Given the description of an element on the screen output the (x, y) to click on. 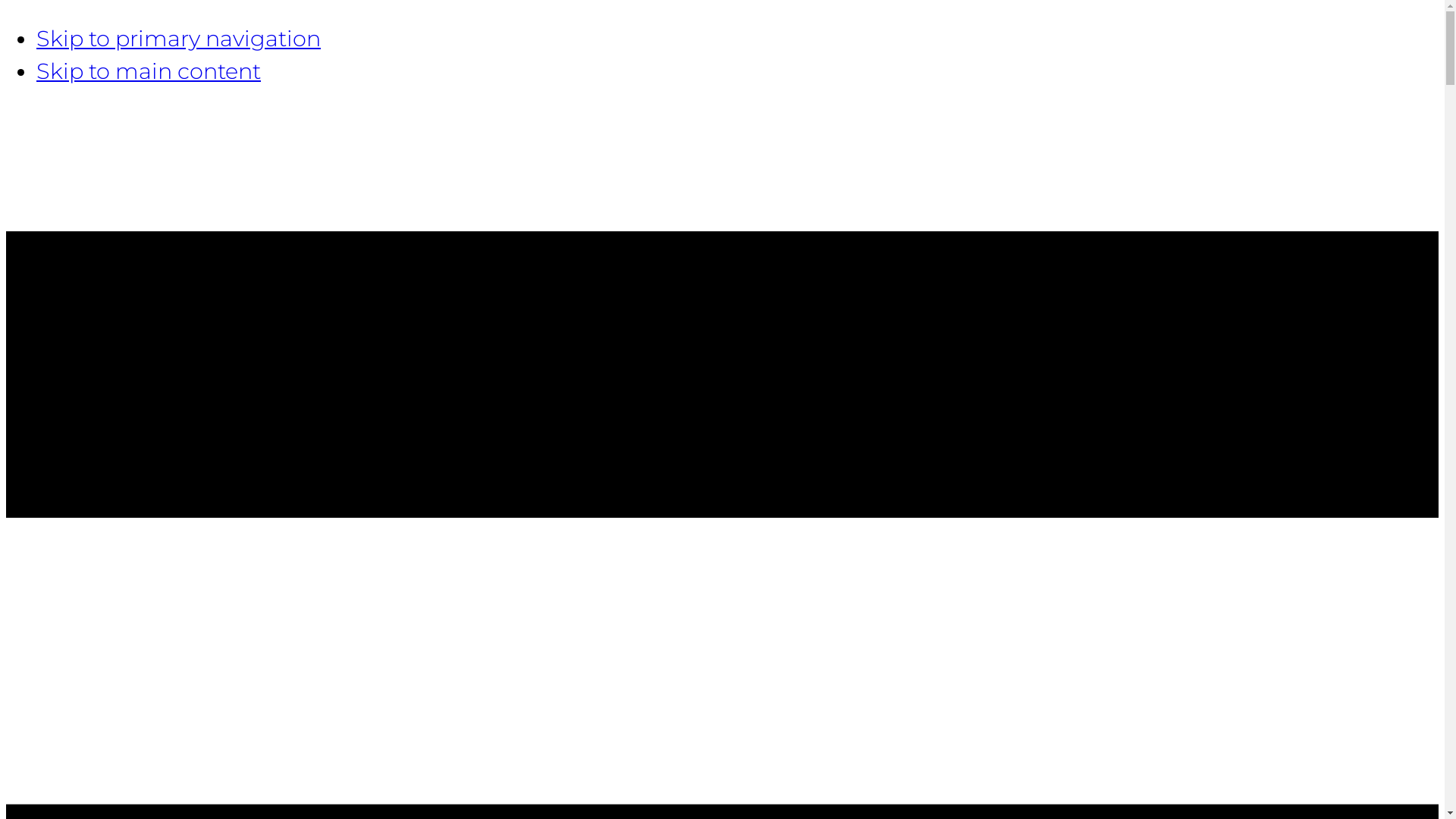
Skip to primary navigation Element type: text (178, 38)
Skip to main content Element type: text (148, 70)
